Given the description of an element on the screen output the (x, y) to click on. 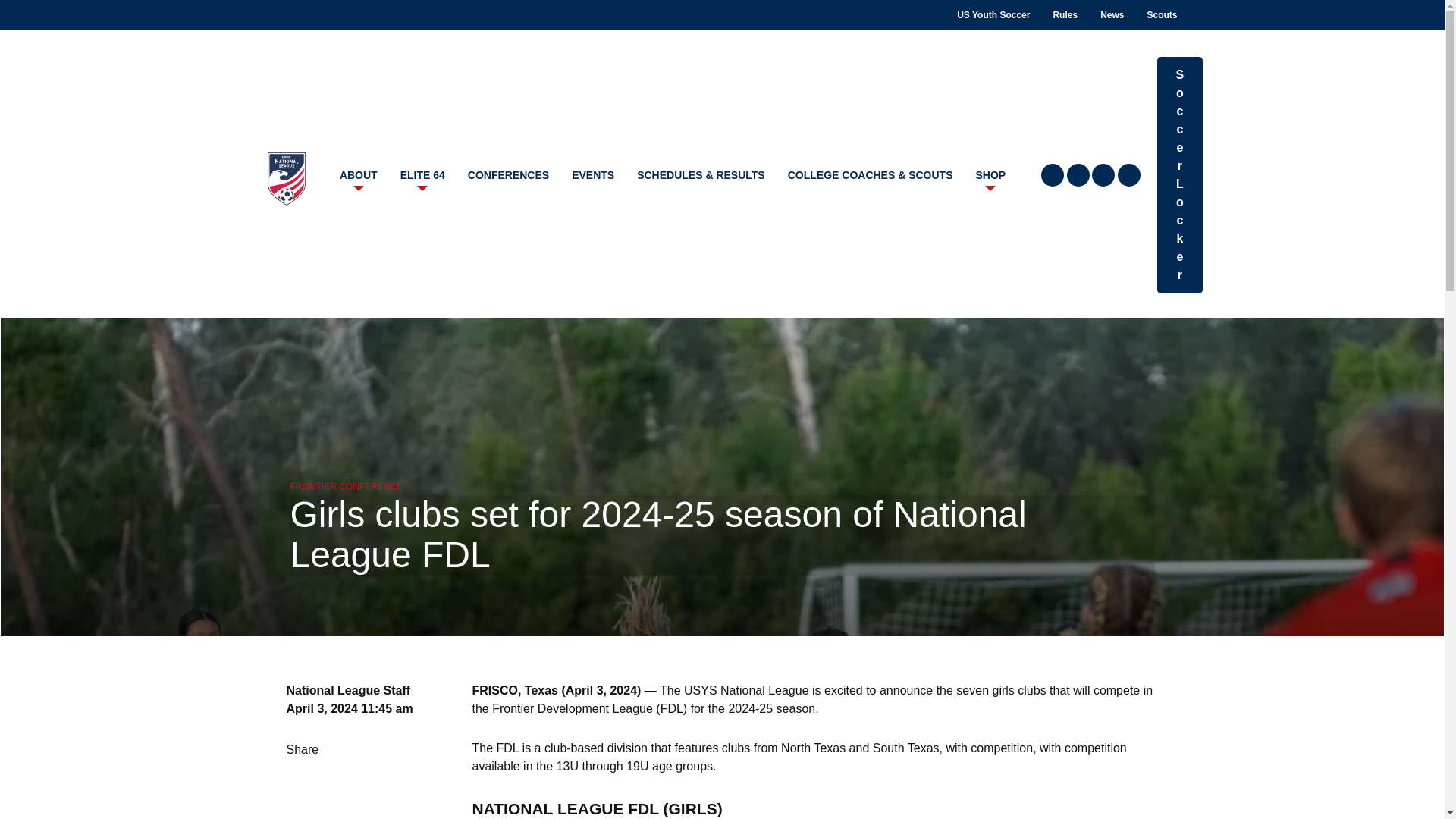
CONFERENCES (508, 174)
ELITE 64 (422, 174)
Soccer Locker (1180, 174)
Scouts (1161, 15)
US Youth Soccer (992, 15)
ABOUT (358, 174)
News (1112, 15)
FRONTIER CONFERENCE (346, 486)
SHOP (990, 174)
EVENTS (593, 174)
Rules (1064, 15)
